Given the description of an element on the screen output the (x, y) to click on. 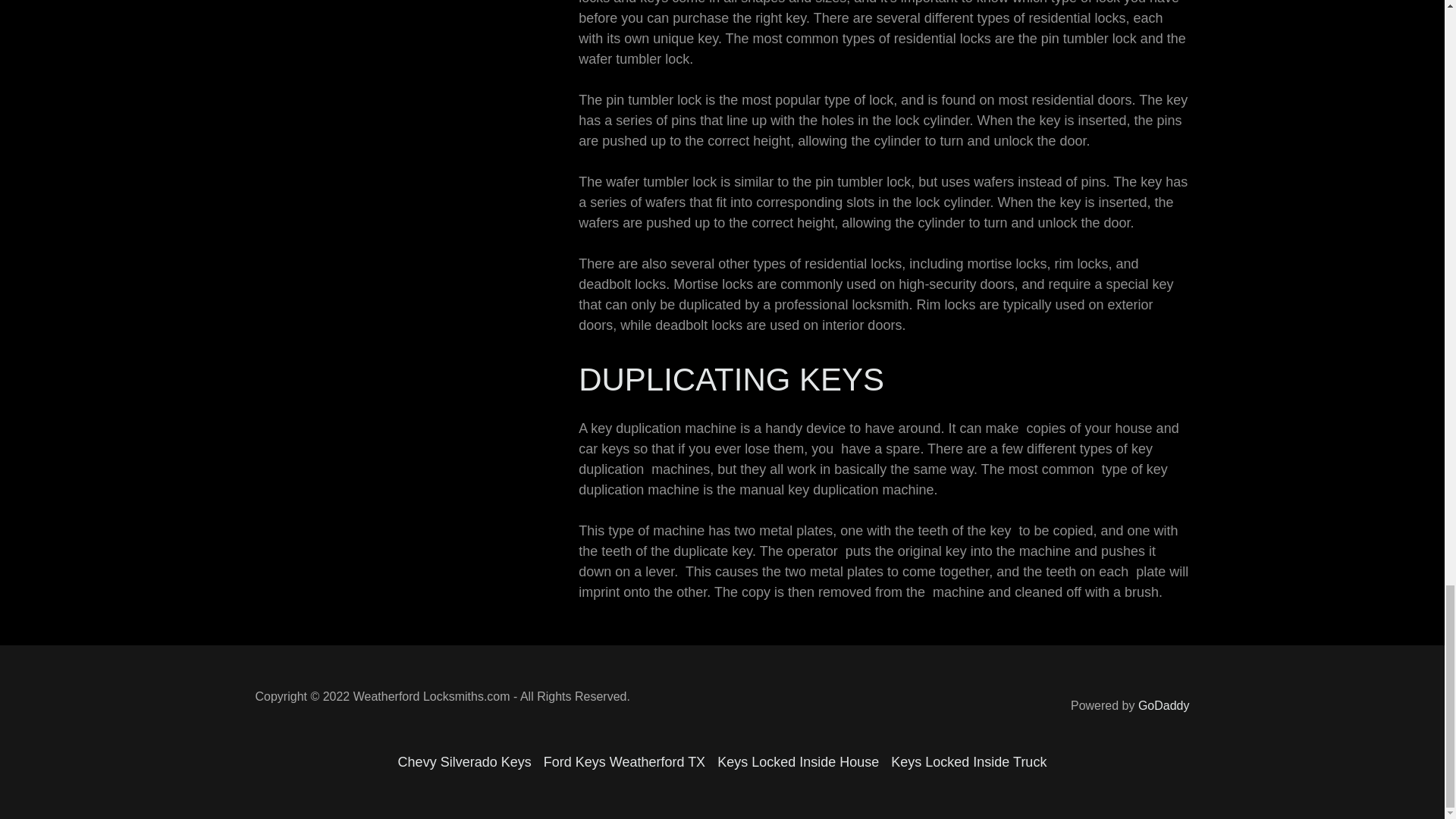
Ford Keys Weatherford TX (624, 762)
GoDaddy (1163, 705)
Chevy Silverado Keys (464, 762)
